Given the description of an element on the screen output the (x, y) to click on. 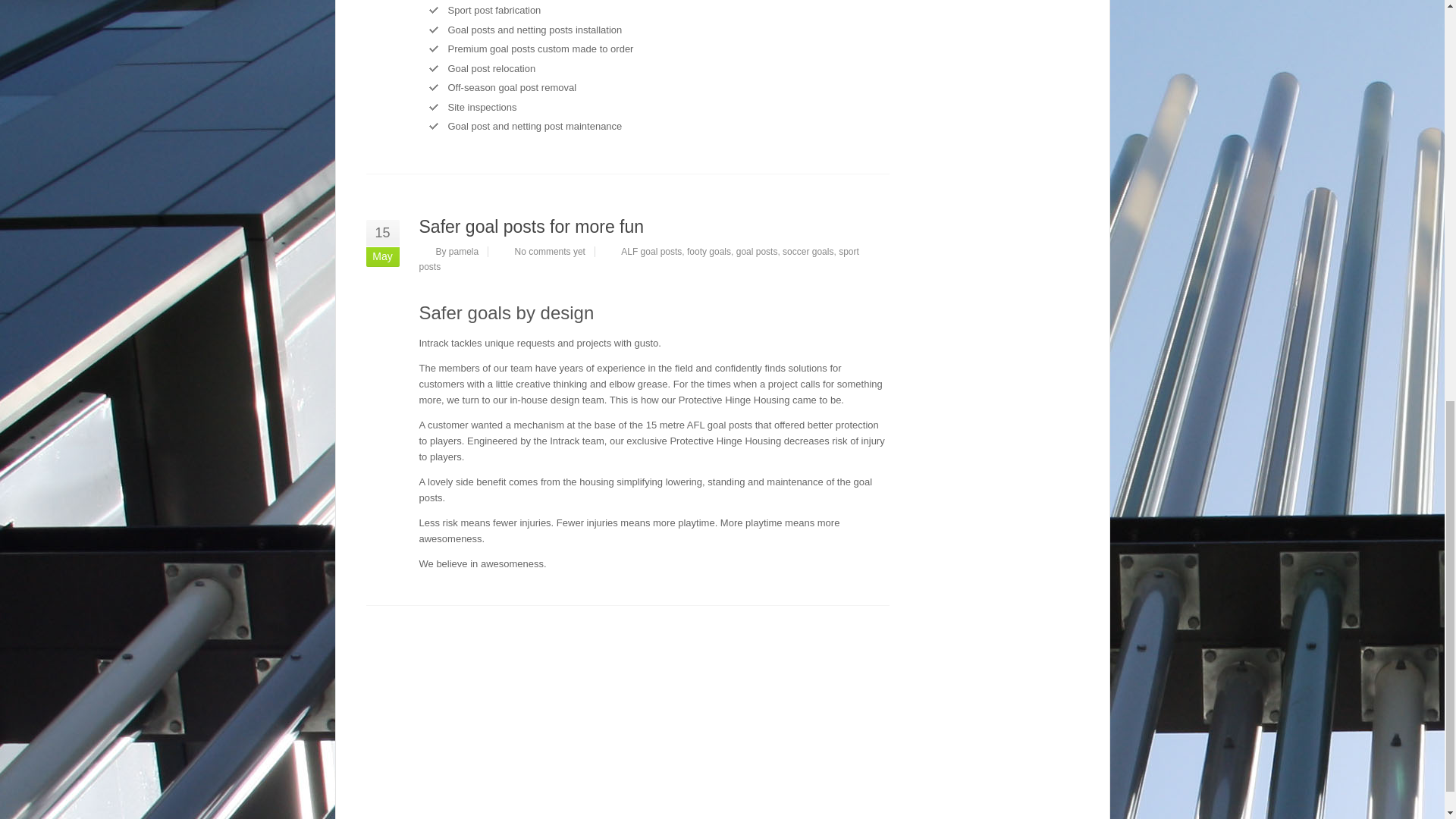
No comments yet (550, 250)
Safer goal posts for more fun (531, 226)
ALF goal posts (651, 250)
footy goals (708, 250)
Permalink to Safer goal posts for more fun (531, 226)
By pamela (457, 250)
